Given the description of an element on the screen output the (x, y) to click on. 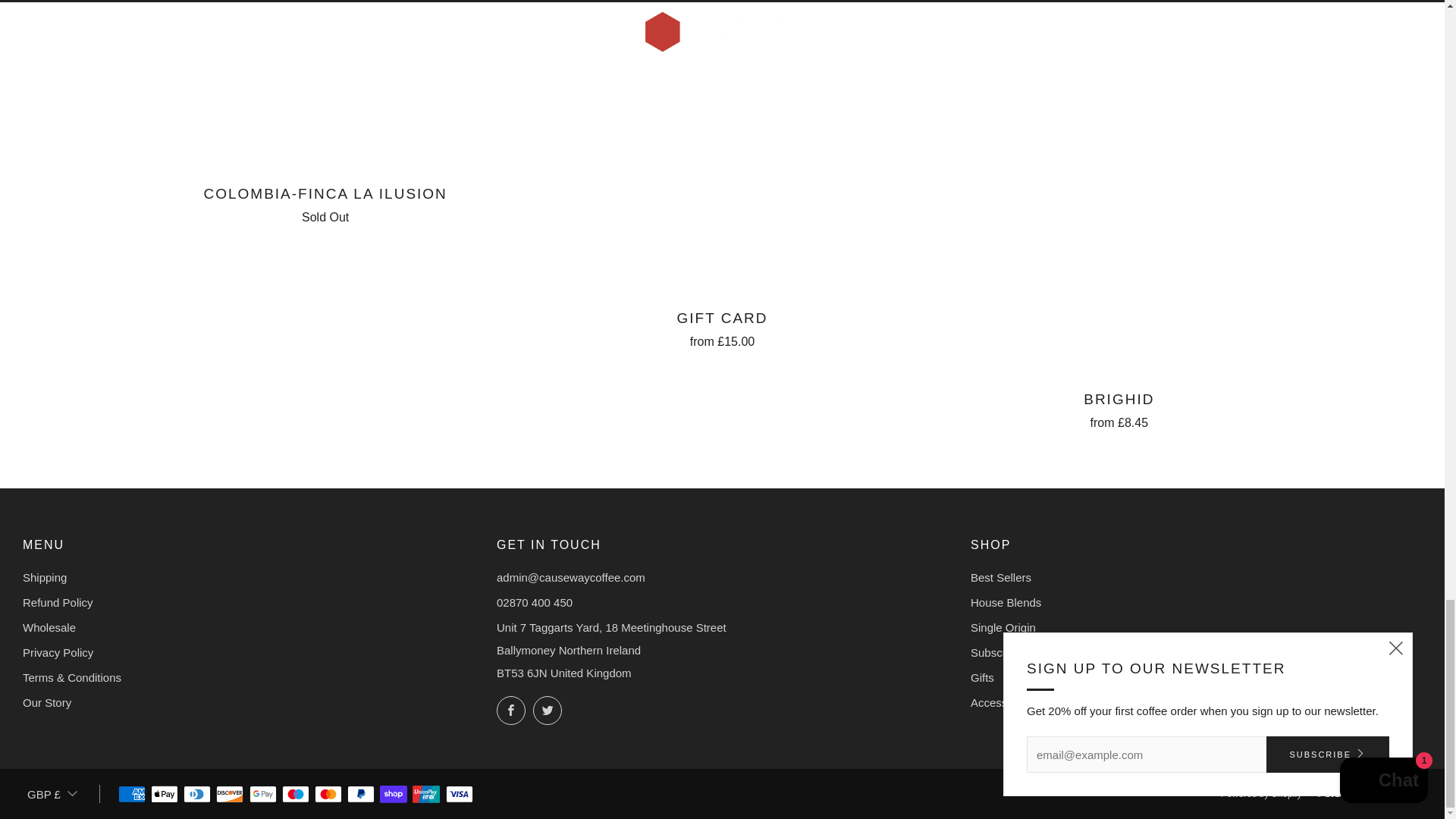
American Express (131, 794)
PayPal (360, 794)
Maestro (295, 794)
Apple Pay (164, 794)
Visa (459, 794)
Mastercard (328, 794)
Diners Club (197, 794)
Shop Pay (393, 794)
Google Pay (262, 794)
Discover (229, 794)
Union Pay (425, 794)
